Given the description of an element on the screen output the (x, y) to click on. 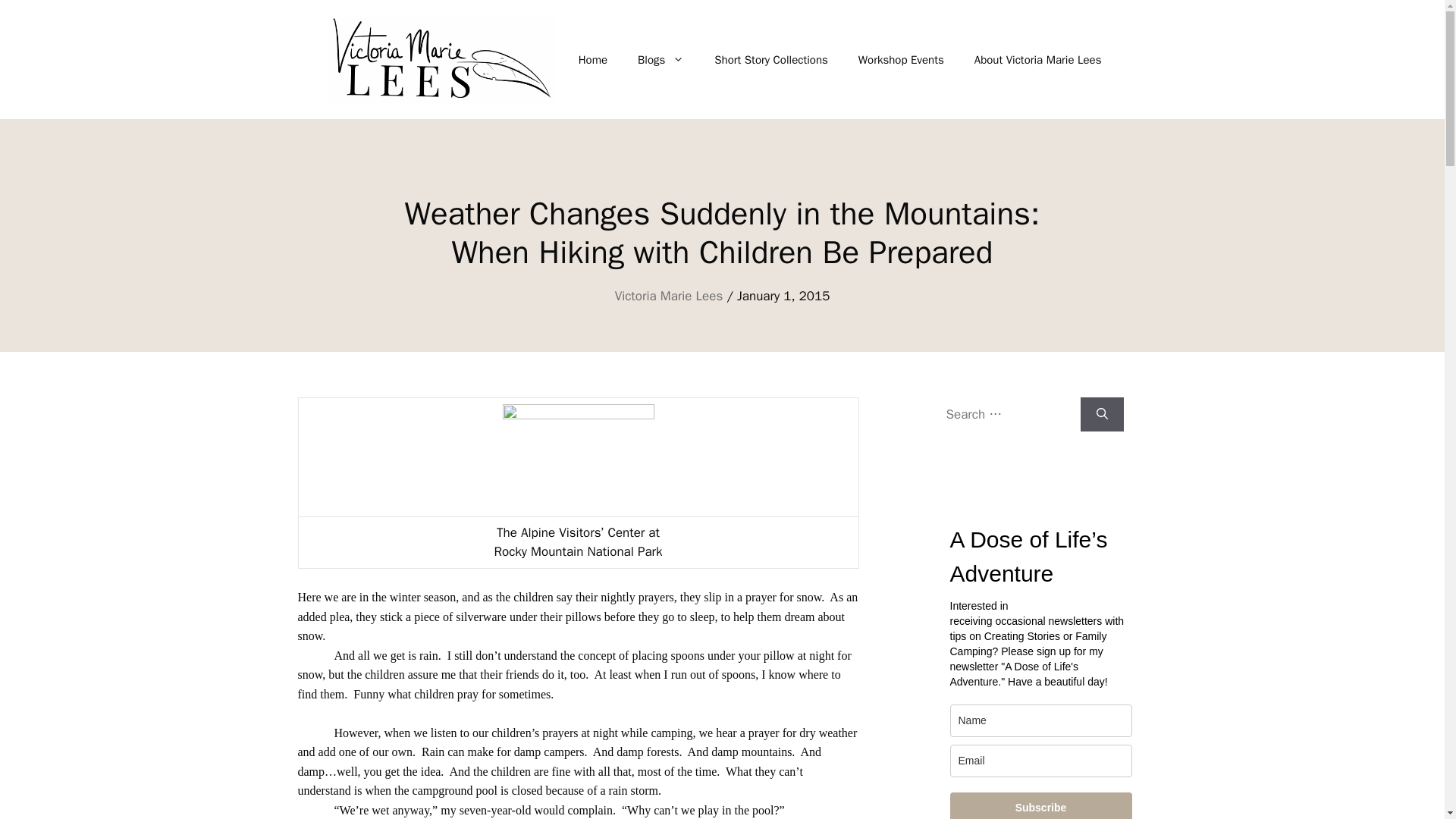
Home (593, 59)
Blogs (660, 59)
Victoria Marie Lees (668, 295)
Short Story Collections (770, 59)
About Victoria Marie Lees (1037, 59)
Search for: (1007, 414)
Workshop Events (901, 59)
